Given the description of an element on the screen output the (x, y) to click on. 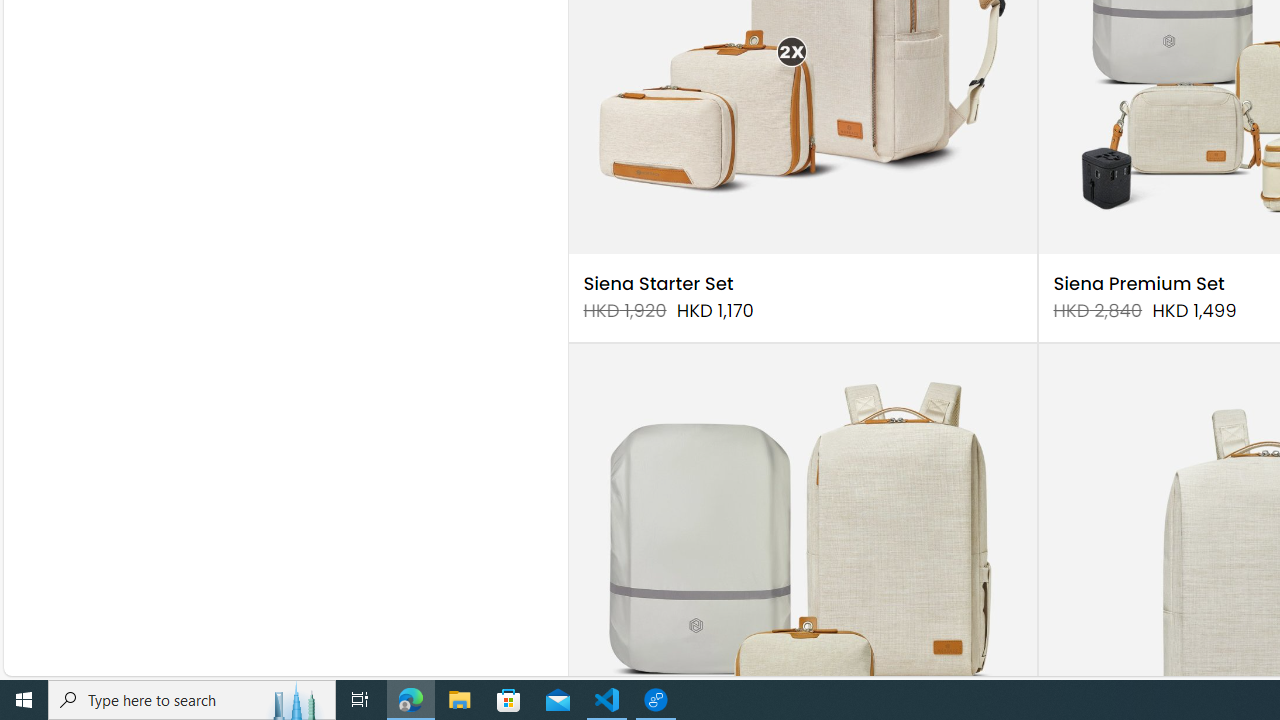
Siena Premium Set (1138, 283)
Siena Starter Set (657, 283)
